Given the description of an element on the screen output the (x, y) to click on. 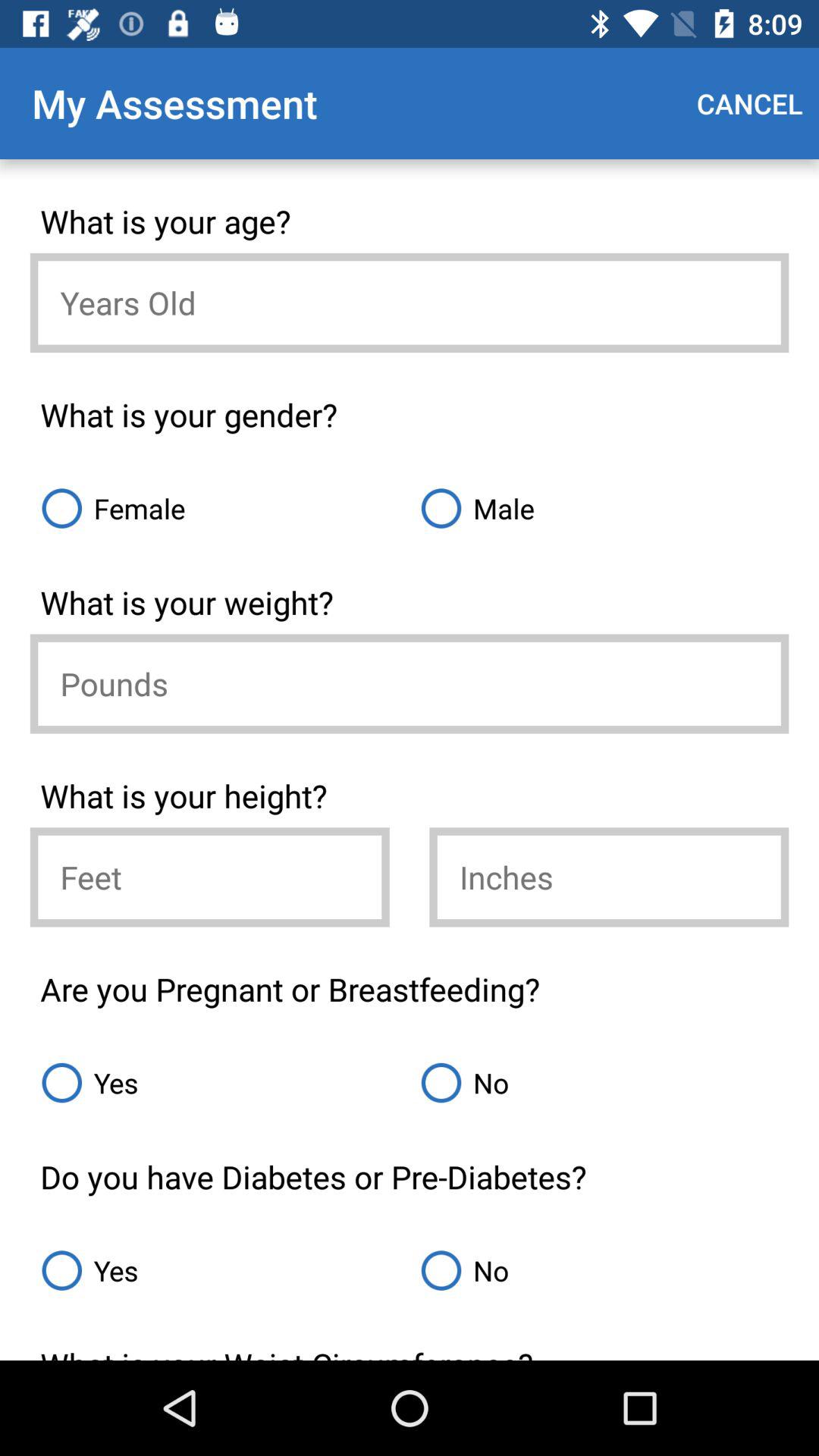
enter the inches part of your height (608, 877)
